Given the description of an element on the screen output the (x, y) to click on. 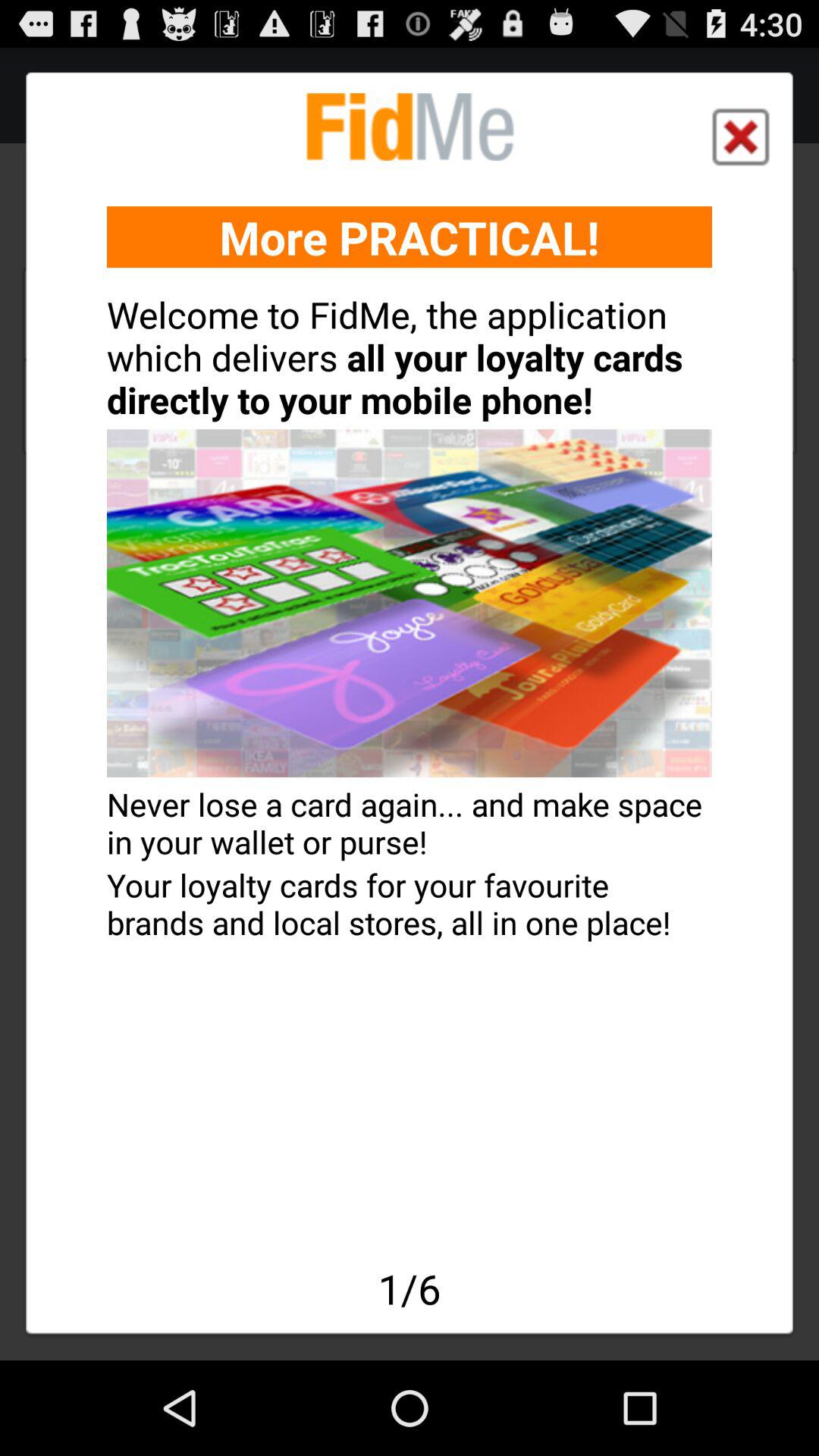
press the icon at the top right corner (740, 137)
